Given the description of an element on the screen output the (x, y) to click on. 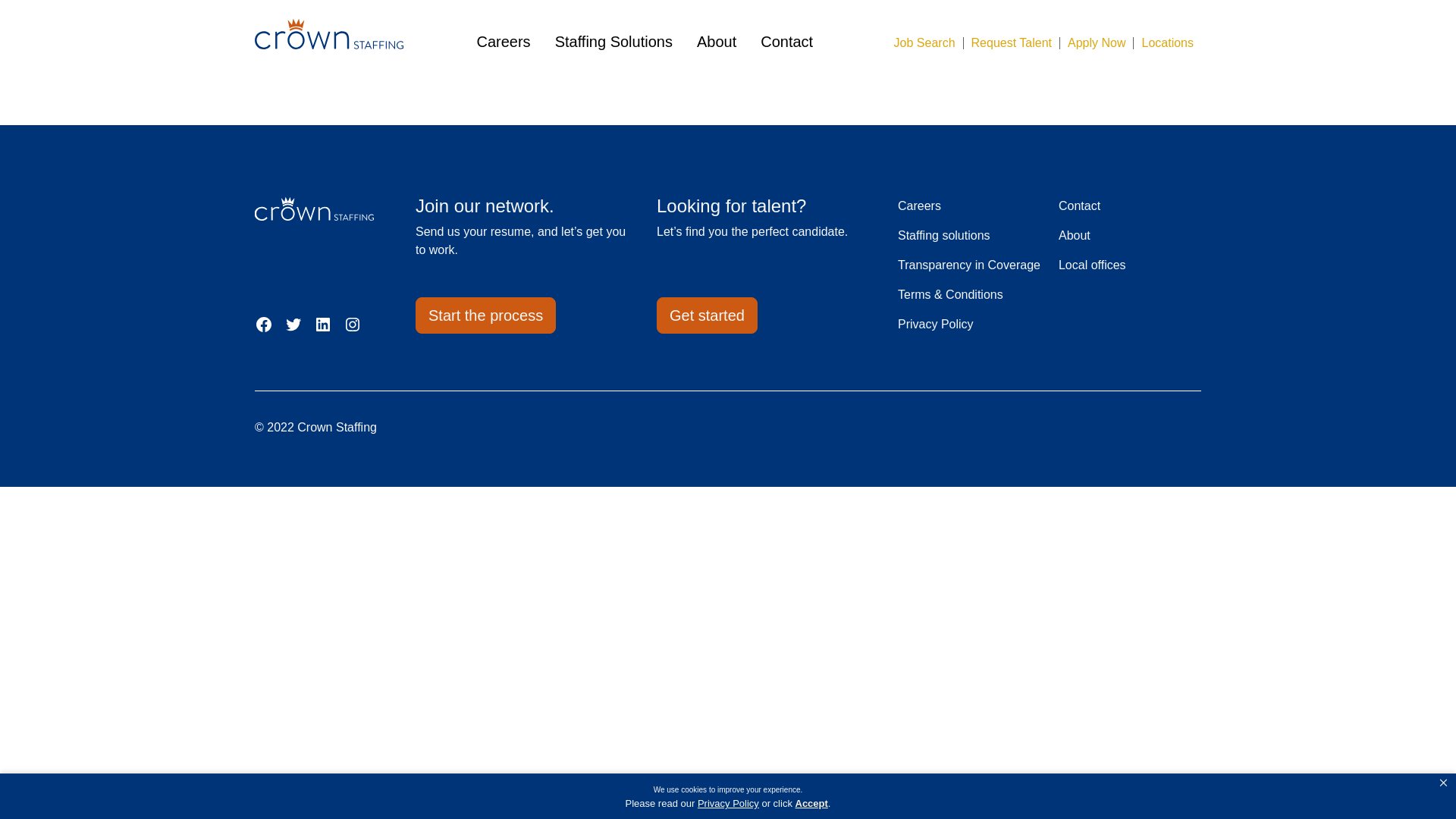
Twitter (292, 324)
Locations (1167, 42)
About (716, 41)
Local offices (1091, 265)
Careers (502, 41)
Crown Staffing Logo (328, 33)
Staffing solutions (944, 235)
Request Talent (1011, 42)
About (1074, 235)
Start the process (485, 315)
Transparency in Coverage (969, 265)
Contact (786, 41)
Apply Now (1096, 42)
Facebook (263, 324)
Get started (706, 315)
